Given the description of an element on the screen output the (x, y) to click on. 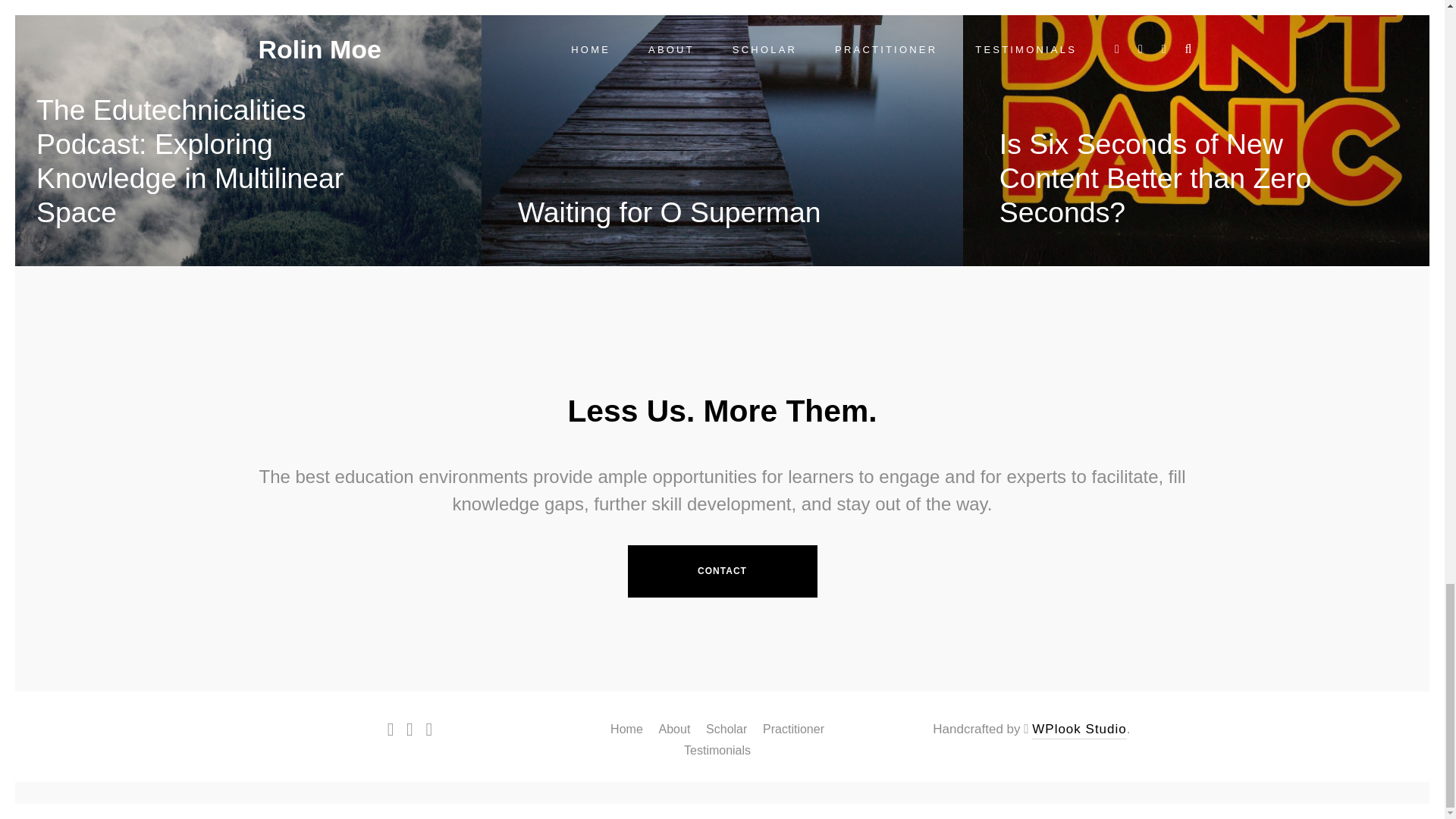
.Is Six Seconds of New Content Better than Zero Seconds? (1154, 177)
Home (626, 728)
Is Six Seconds of New Content Better than Zero Seconds? (1154, 177)
.Waiting for O Superman (669, 212)
CONTACT (721, 571)
Waiting for O Superman (669, 212)
